Given the description of an element on the screen output the (x, y) to click on. 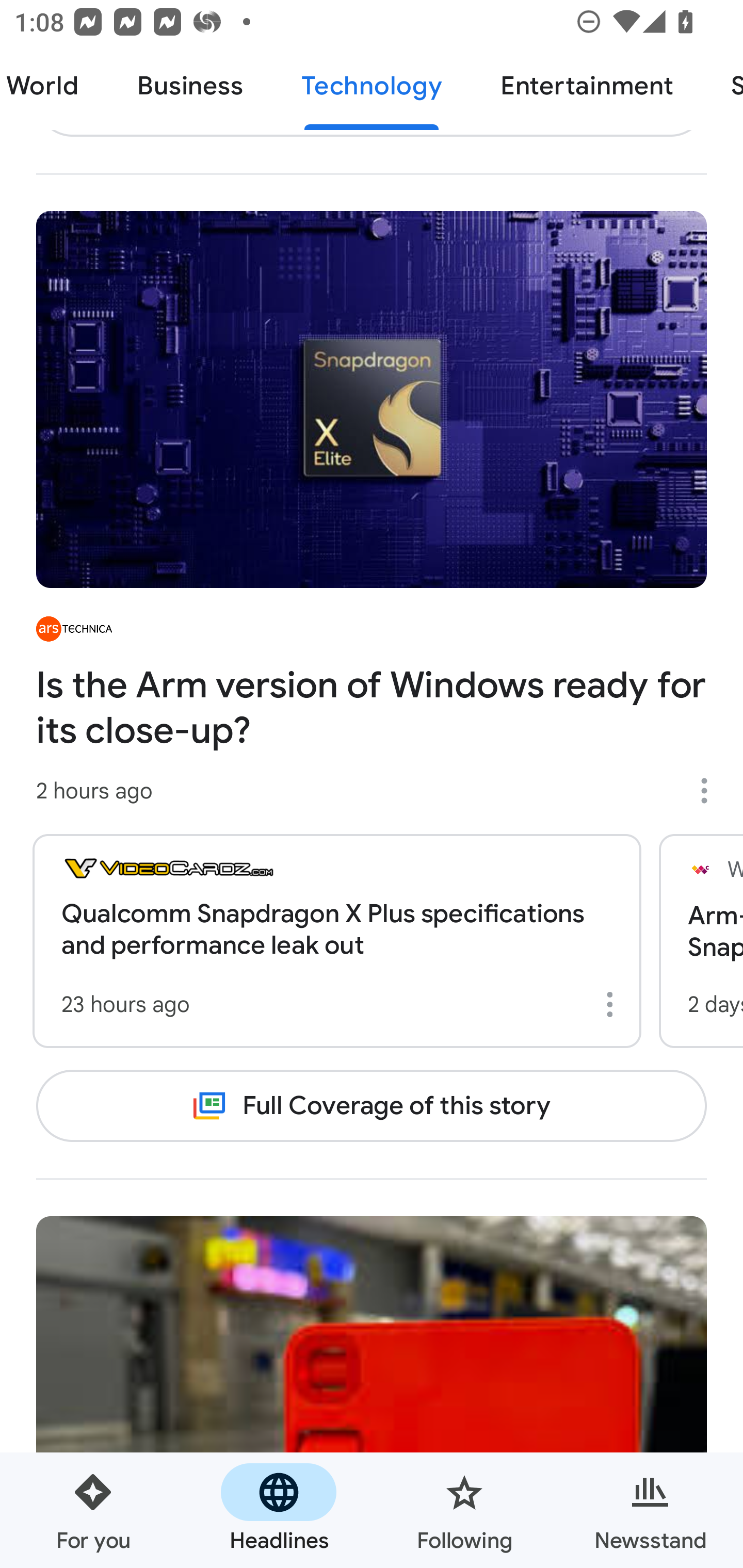
World (53, 86)
Business (189, 86)
Entertainment (586, 86)
More options (711, 790)
More options (613, 1003)
Full Coverage of this story (371, 1105)
For you (92, 1509)
Headlines (278, 1509)
Following (464, 1509)
Newsstand (650, 1509)
